Given the description of an element on the screen output the (x, y) to click on. 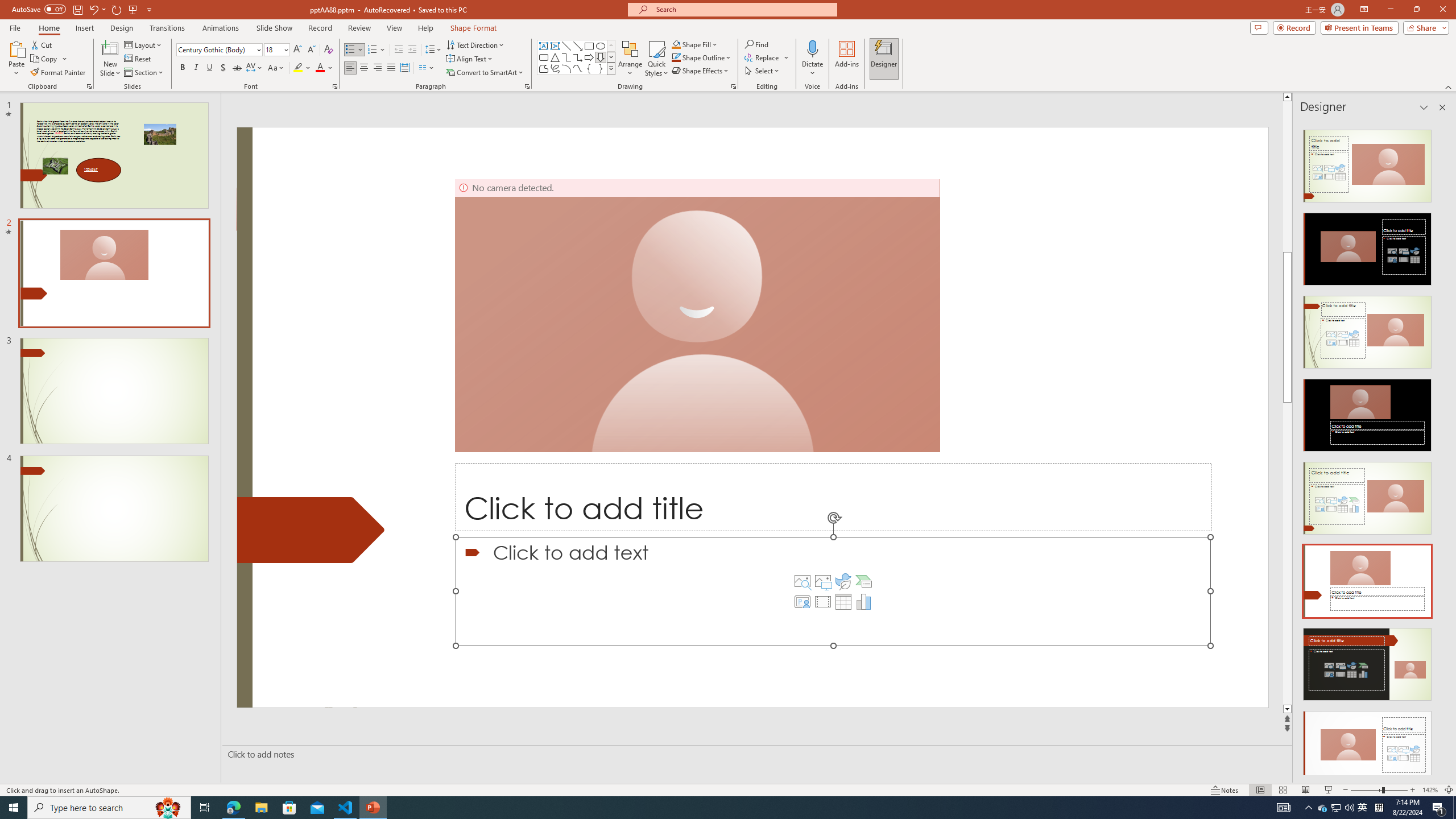
Oval (600, 45)
New Slide (110, 48)
Insert Cameo (801, 601)
Shape Fill Aqua, Accent 2 (675, 44)
Right Brace (600, 68)
Normal (1260, 790)
Dictate (812, 58)
Align Right (377, 67)
From Beginning (133, 9)
Columns (426, 67)
Curve (577, 68)
Font... (334, 85)
Arc (566, 68)
Freeform: Scribble (554, 68)
View (395, 28)
